Given the description of an element on the screen output the (x, y) to click on. 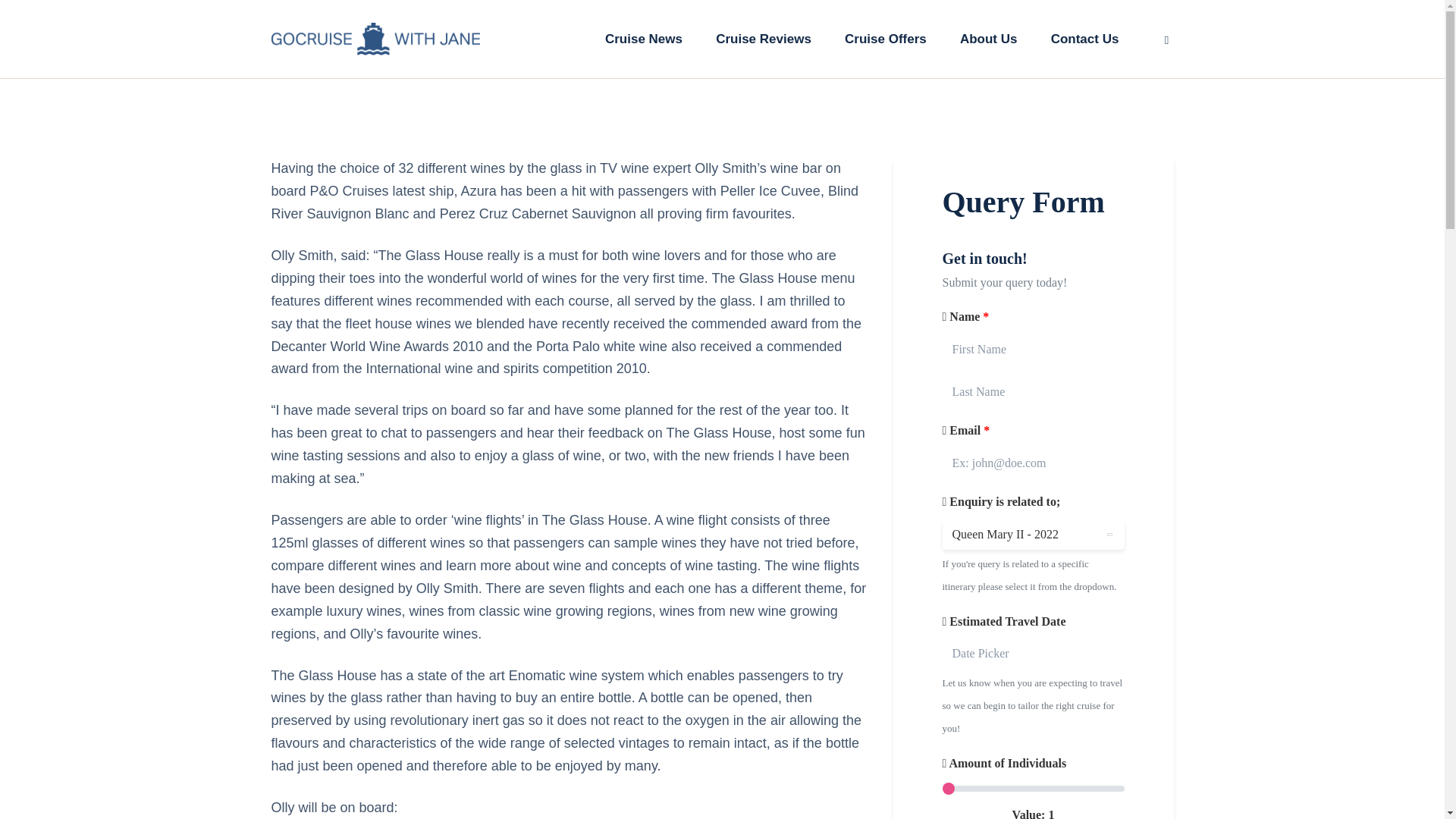
Contact Us (1084, 38)
Cruise Offers (885, 38)
1 (1033, 788)
Cruise Reviews (763, 38)
About Us (988, 38)
Cruise News (643, 38)
